Given the description of an element on the screen output the (x, y) to click on. 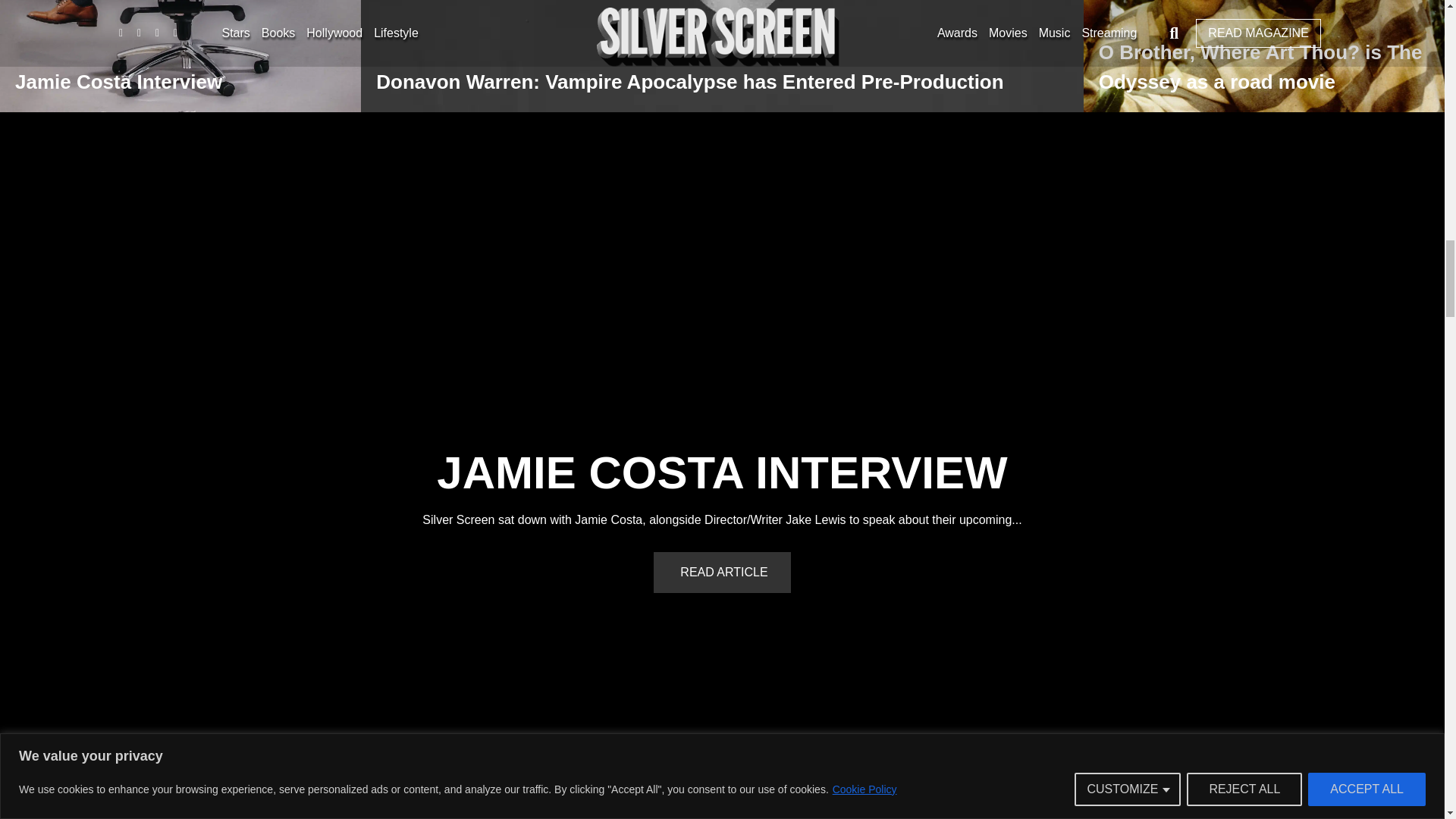
Jamie Costa Interview (721, 472)
